Given the description of an element on the screen output the (x, y) to click on. 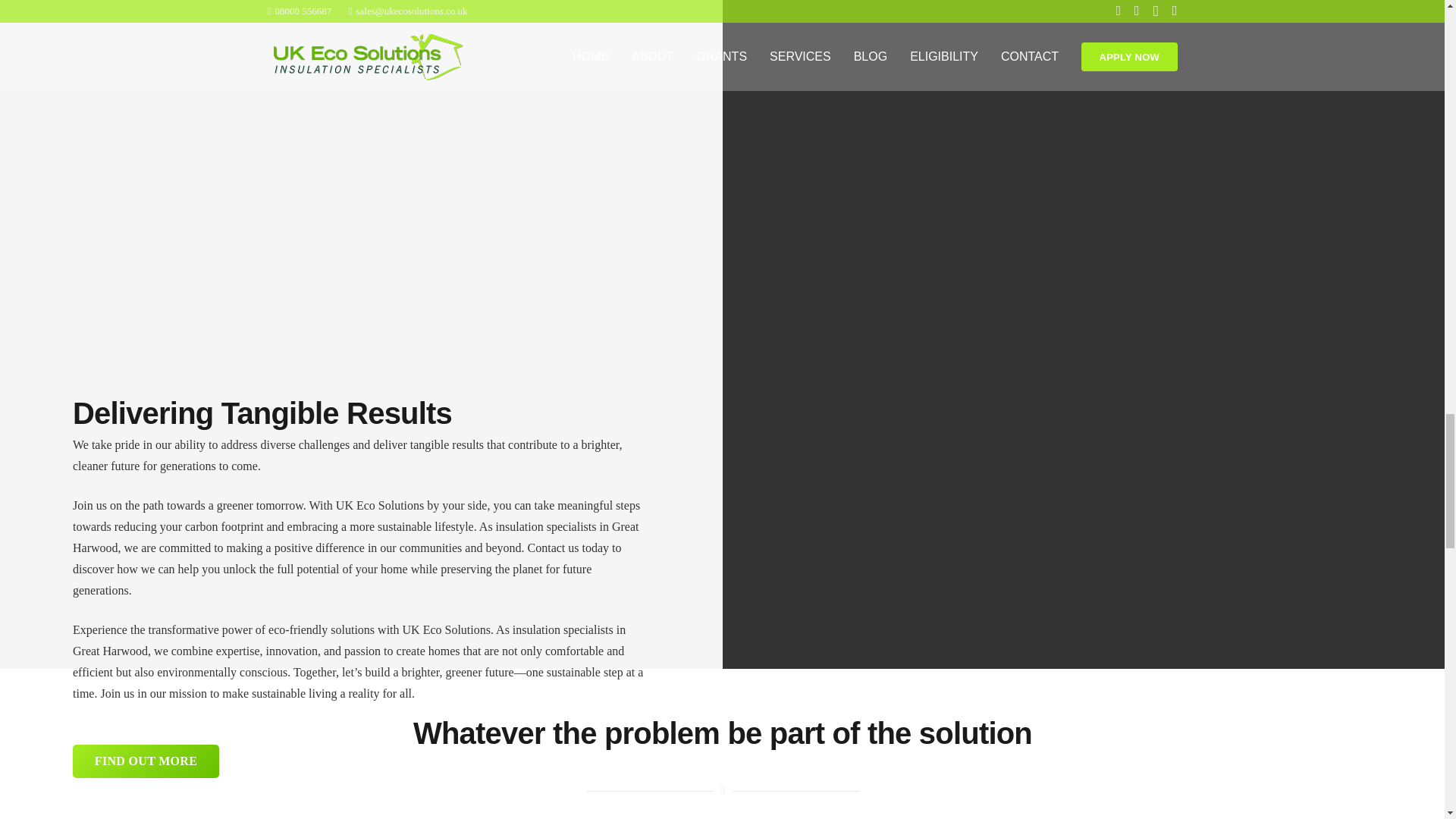
FIND OUT MORE (145, 761)
